Given the description of an element on the screen output the (x, y) to click on. 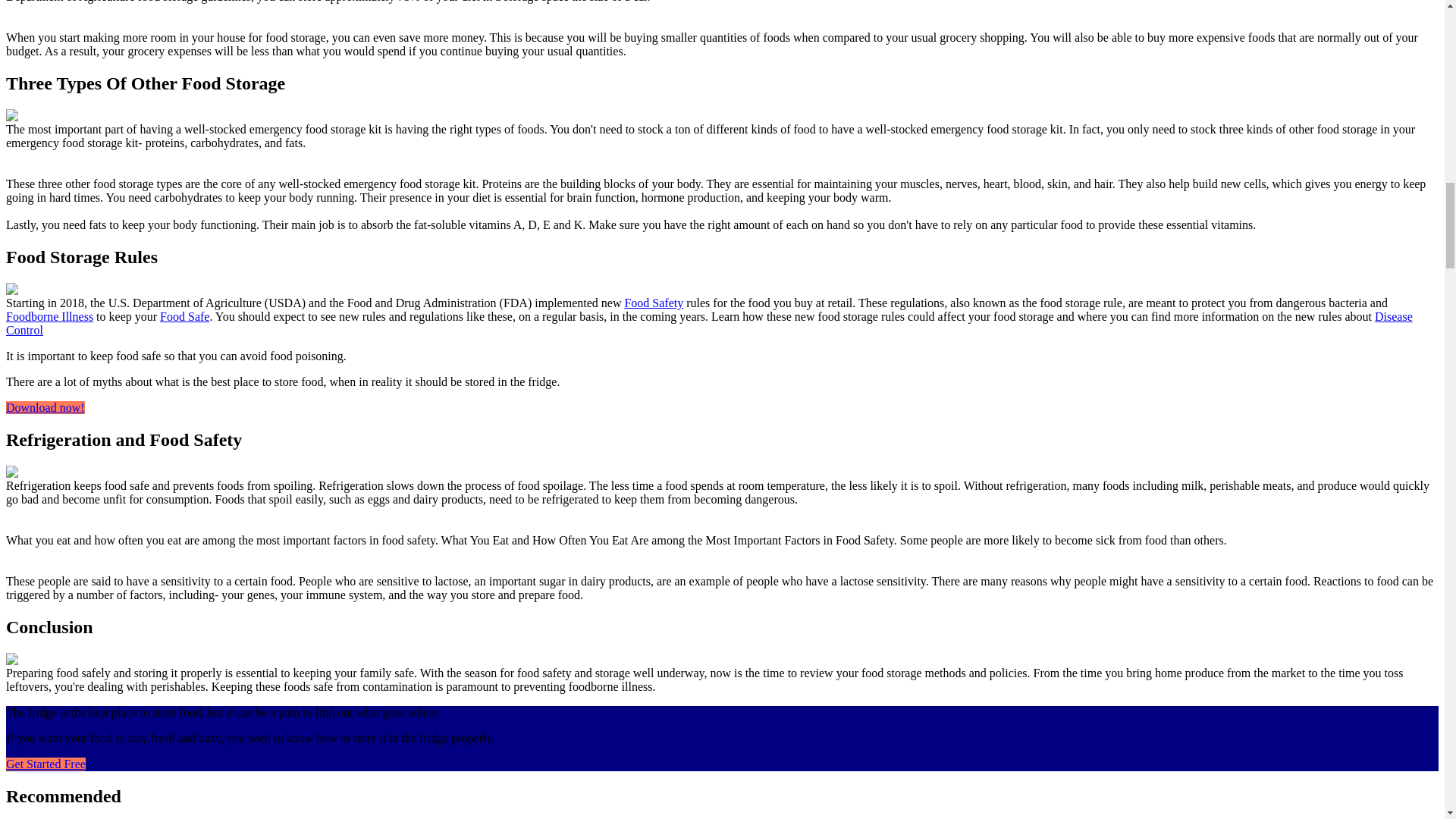
Foodborne Illness (49, 316)
Food Safety (653, 302)
